Given the description of an element on the screen output the (x, y) to click on. 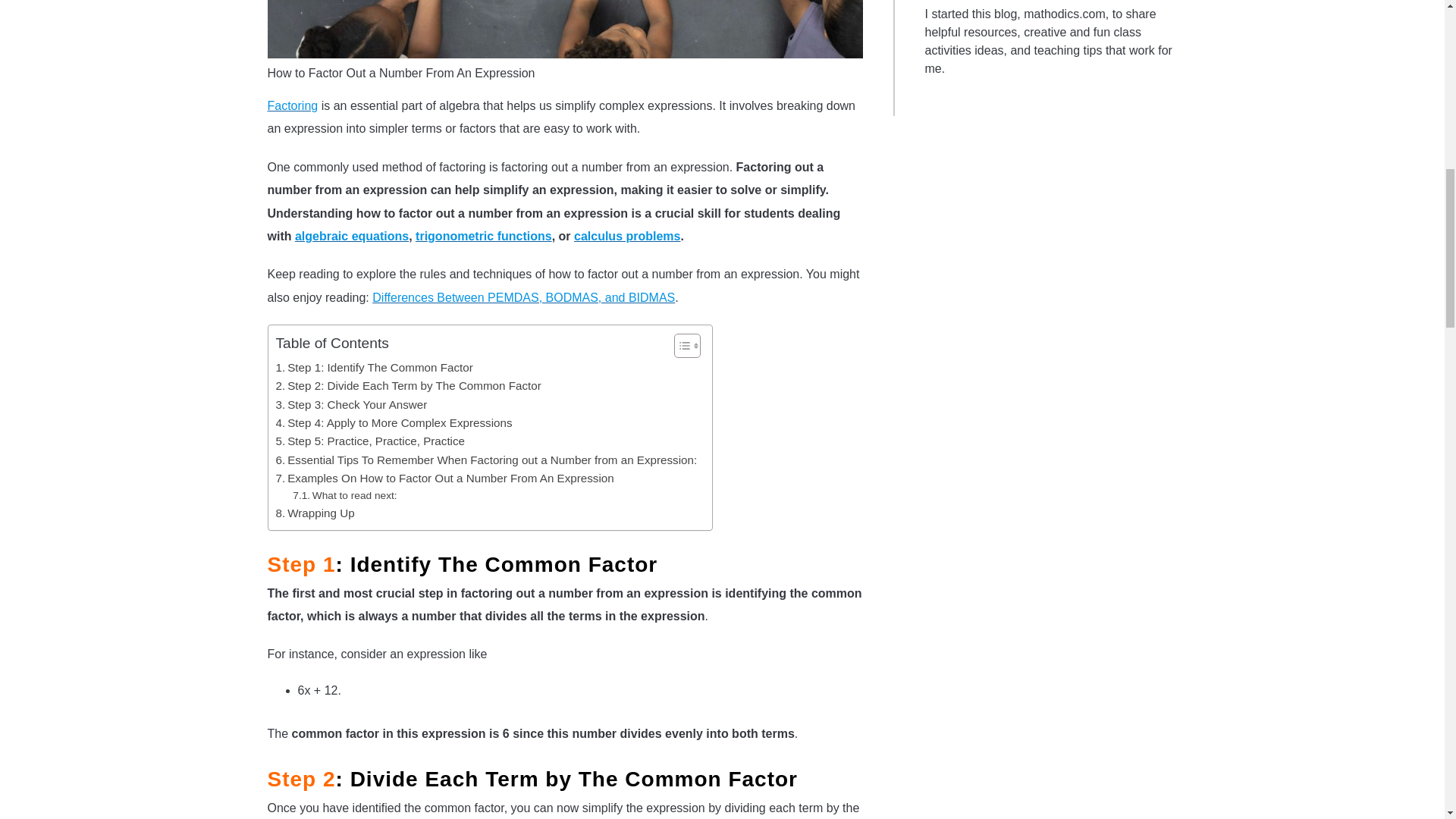
calculus problems (627, 236)
Step 2: Divide Each Term by The Common Factor (408, 385)
Step 5: Practice, Practice, Practice (370, 441)
Wrapping Up (315, 513)
Step 1: Identify The Common Factor (374, 367)
trigonometric functions (482, 236)
Step 5: Practice, Practice, Practice (370, 441)
Differences Between PEMDAS, BODMAS, and BIDMAS (523, 297)
Step 4: Apply to More Complex Expressions (394, 423)
Examples On How to Factor Out a Number From An Expression (445, 478)
Factoring (291, 105)
What to read next: (344, 495)
Step 1: Identify The Common Factor (374, 367)
Wrapping Up (315, 513)
